Given the description of an element on the screen output the (x, y) to click on. 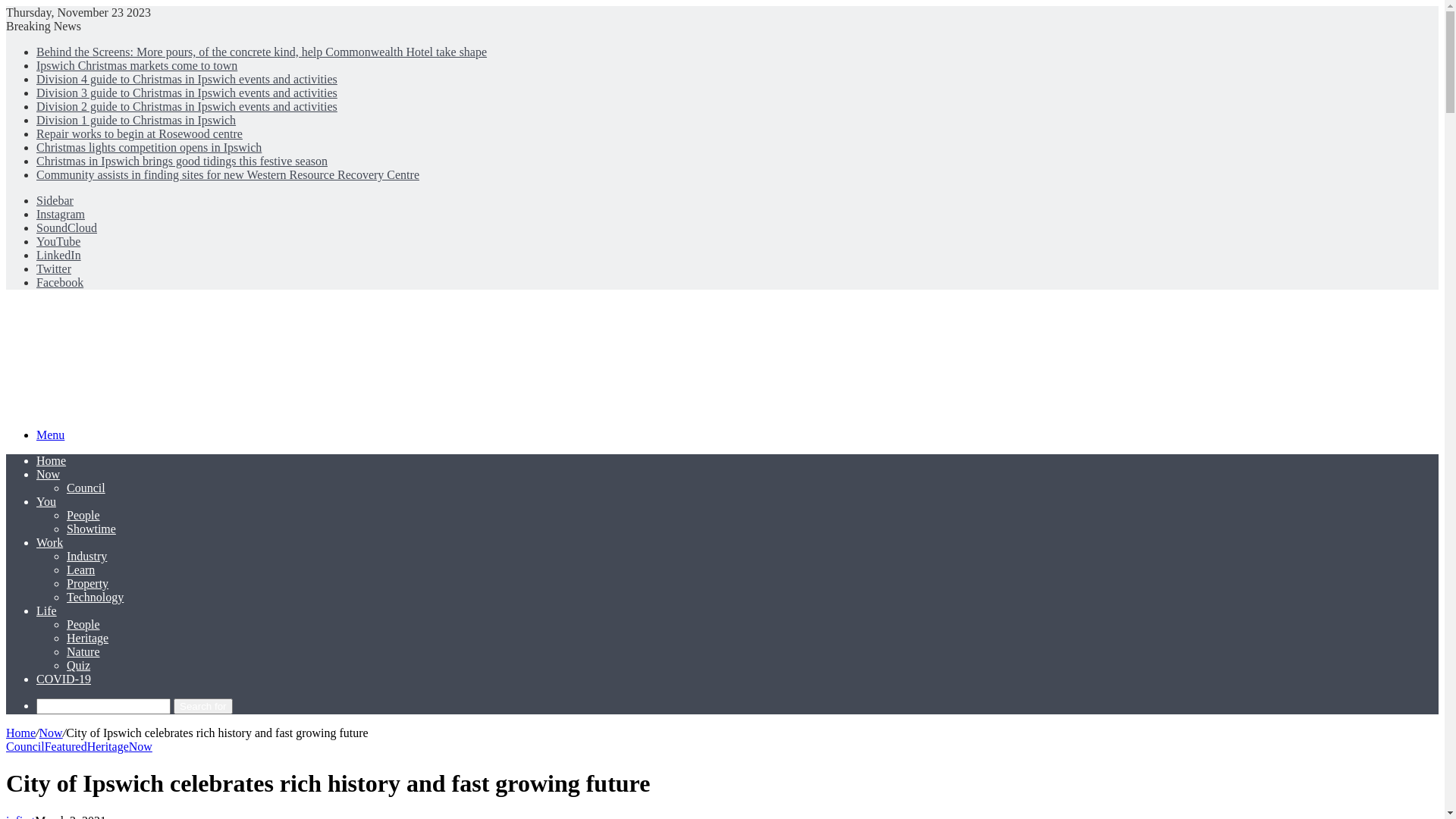
Facebook Element type: text (59, 282)
Featured Element type: text (65, 746)
Christmas lights competition opens in Ipswich Element type: text (148, 147)
Learn Element type: text (80, 569)
Ipswich Christmas markets come to town Element type: text (136, 65)
SoundCloud Element type: text (66, 227)
Home Element type: text (50, 460)
Division 1 guide to Christmas in Ipswich Element type: text (135, 119)
Twitter Element type: text (53, 268)
People Element type: text (83, 624)
Ipswich First Element type: hover (236, 408)
Property Element type: text (87, 583)
Search for Element type: text (202, 706)
Home Element type: text (20, 732)
Search for Element type: hover (103, 706)
Work Element type: text (49, 542)
Quiz Element type: text (78, 664)
Council Element type: text (25, 746)
Repair works to begin at Rosewood centre Element type: text (139, 133)
YouTube Element type: text (58, 241)
Menu Element type: text (50, 434)
Life Element type: text (46, 610)
Now Element type: text (47, 473)
Heritage Element type: text (107, 746)
Showtime Element type: text (91, 528)
Sidebar Element type: text (54, 200)
COVID-19 Element type: text (63, 678)
LinkedIn Element type: text (58, 254)
Industry Element type: text (86, 555)
Nature Element type: text (83, 651)
Council Element type: text (85, 487)
Christmas in Ipswich brings good tidings this festive season Element type: text (181, 160)
People Element type: text (83, 514)
Heritage Element type: text (87, 637)
You Element type: text (46, 501)
Now Element type: text (140, 746)
Now Element type: text (50, 732)
Instagram Element type: text (60, 213)
Technology Element type: text (94, 596)
